Given the description of an element on the screen output the (x, y) to click on. 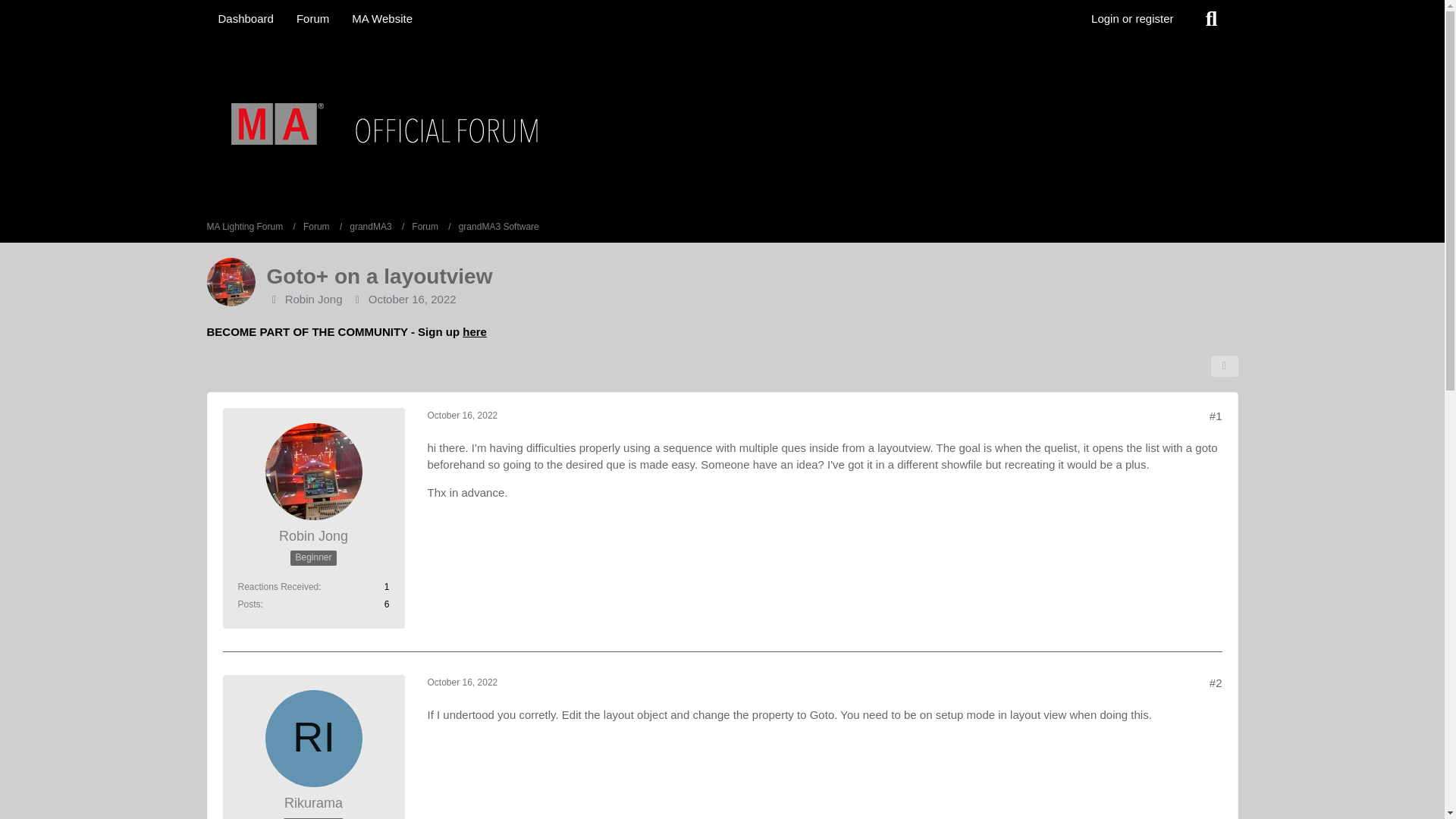
MA Website (381, 18)
grandMA3 Software (498, 227)
Rikurama (312, 803)
here (474, 331)
Forum (430, 227)
Robin Jong (313, 536)
October 16, 2022October 16, 2022 at 7:54 PM (412, 298)
grandMA3 (376, 227)
Forum (312, 18)
Login or register (1132, 18)
Posts (249, 603)
Forum (322, 227)
MA Lighting Forum (250, 227)
Forum (425, 227)
Forum (316, 227)
